Given the description of an element on the screen output the (x, y) to click on. 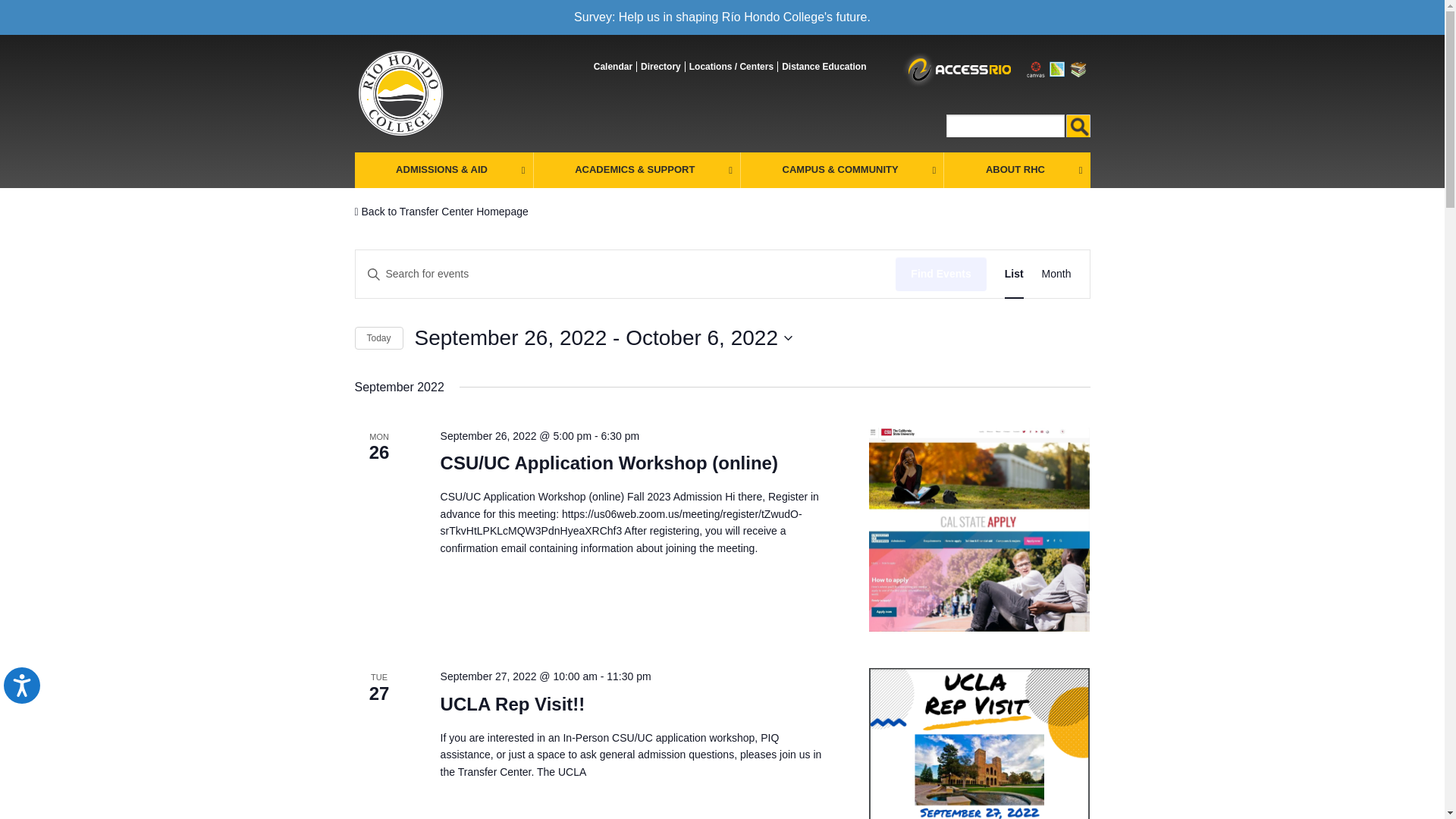
go (1077, 126)
Click to view Campus Map (1056, 68)
Accessibility (34, 697)
go (1077, 126)
AccessRio Login (954, 69)
View Campus Calendar (613, 66)
Search Term (1005, 126)
Rio Hondo College Directory (661, 66)
Distance Education (823, 66)
Directory (661, 66)
Online Courses at Rio Hondo College (823, 66)
Calendar (613, 66)
Click to view our Bookstore (1077, 68)
Transfer Center (400, 92)
Click to login to Canvas (1035, 68)
